Given the description of an element on the screen output the (x, y) to click on. 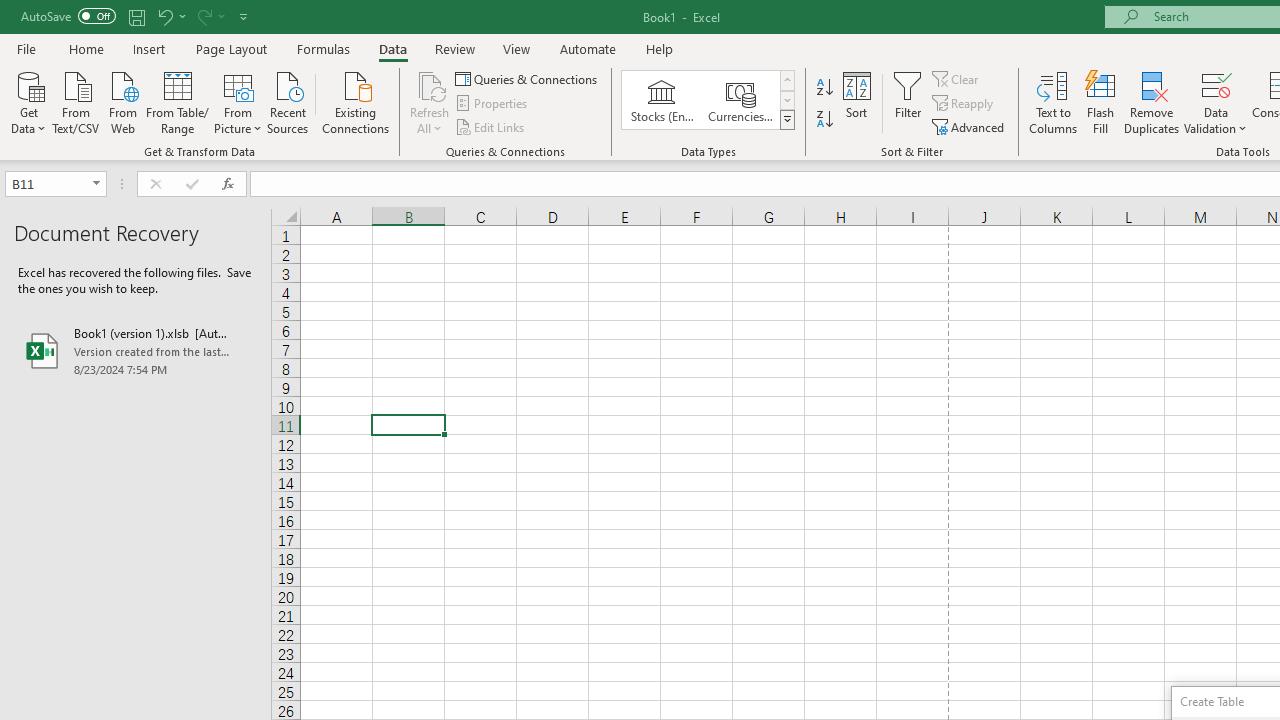
Data Validation... (1215, 102)
Quick Access Toolbar (136, 16)
Refresh All (429, 84)
Row Down (786, 100)
Automate (588, 48)
From Text/CSV (75, 101)
Filter (908, 102)
Refresh All (429, 102)
From Table/Range (177, 101)
Clear (957, 78)
Sort A to Z (824, 87)
